Given the description of an element on the screen output the (x, y) to click on. 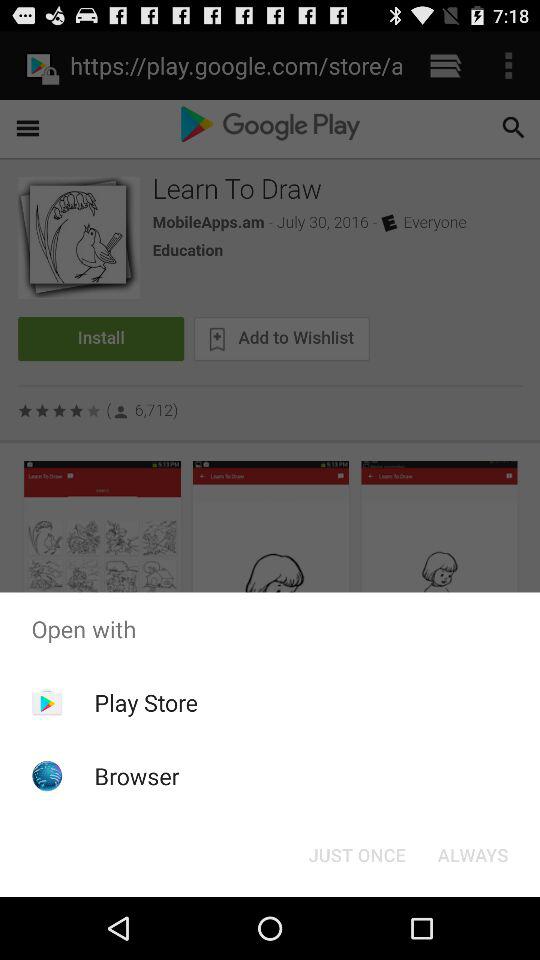
turn on item below the play store item (136, 775)
